Given the description of an element on the screen output the (x, y) to click on. 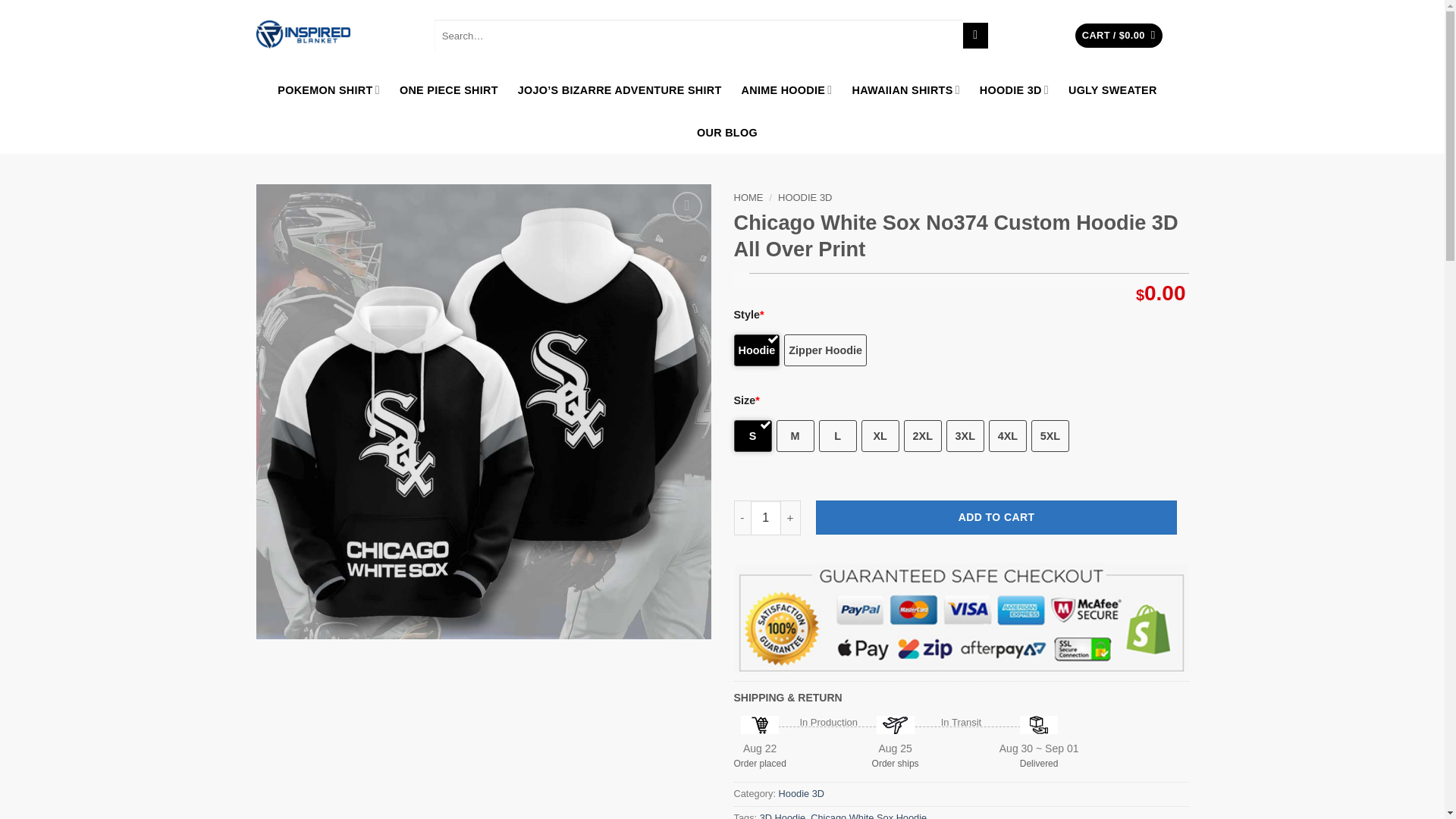
L (837, 436)
3XL (965, 436)
ANIME HOODIE (786, 89)
Hoodie (756, 350)
Zoom (686, 206)
Search (975, 35)
2XL (923, 436)
HAWAIIAN SHIRTS (905, 89)
Cart (1118, 35)
HOODIE 3D (1013, 89)
